Given the description of an element on the screen output the (x, y) to click on. 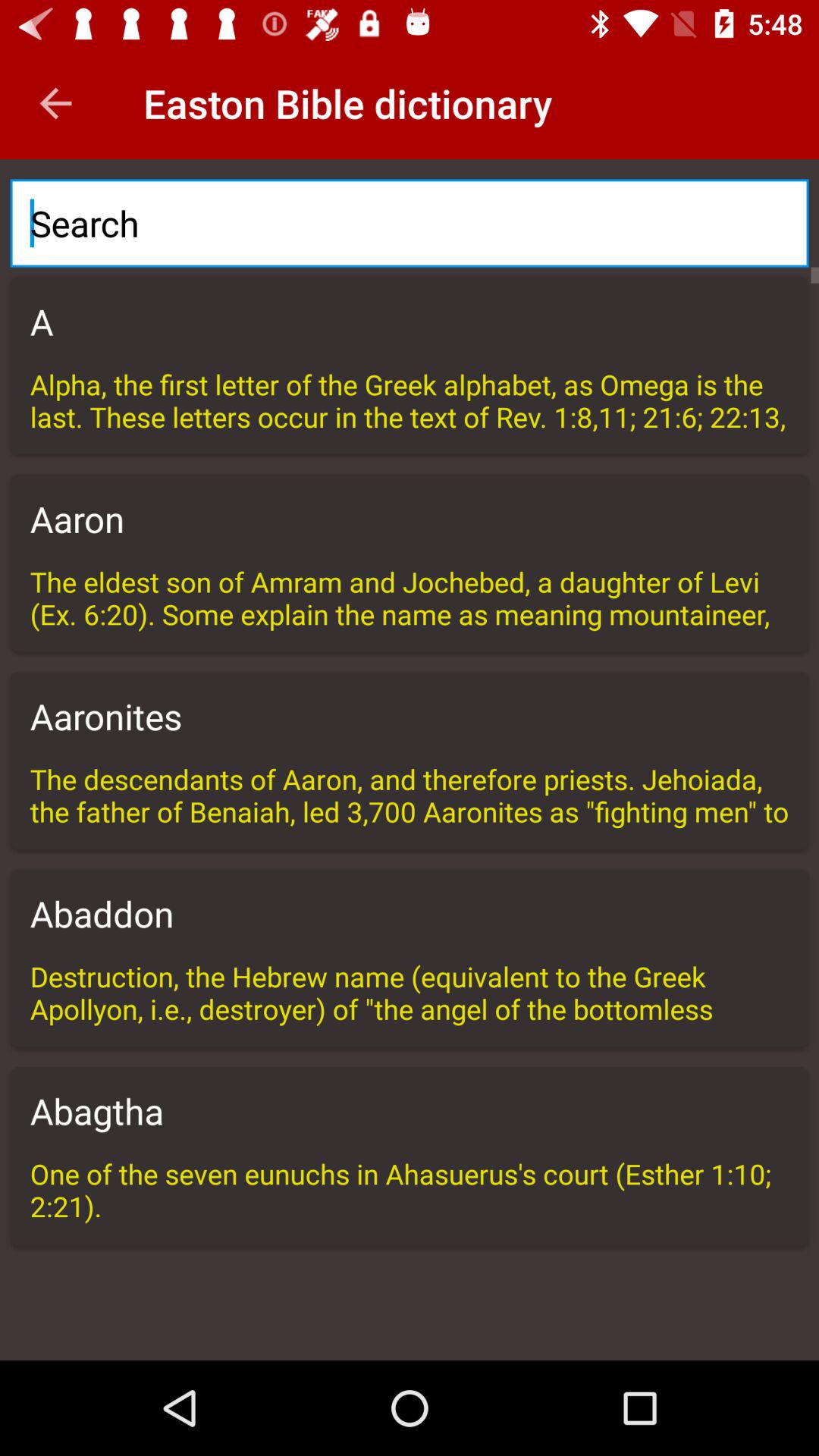
swipe until abaddon item (409, 913)
